Given the description of an element on the screen output the (x, y) to click on. 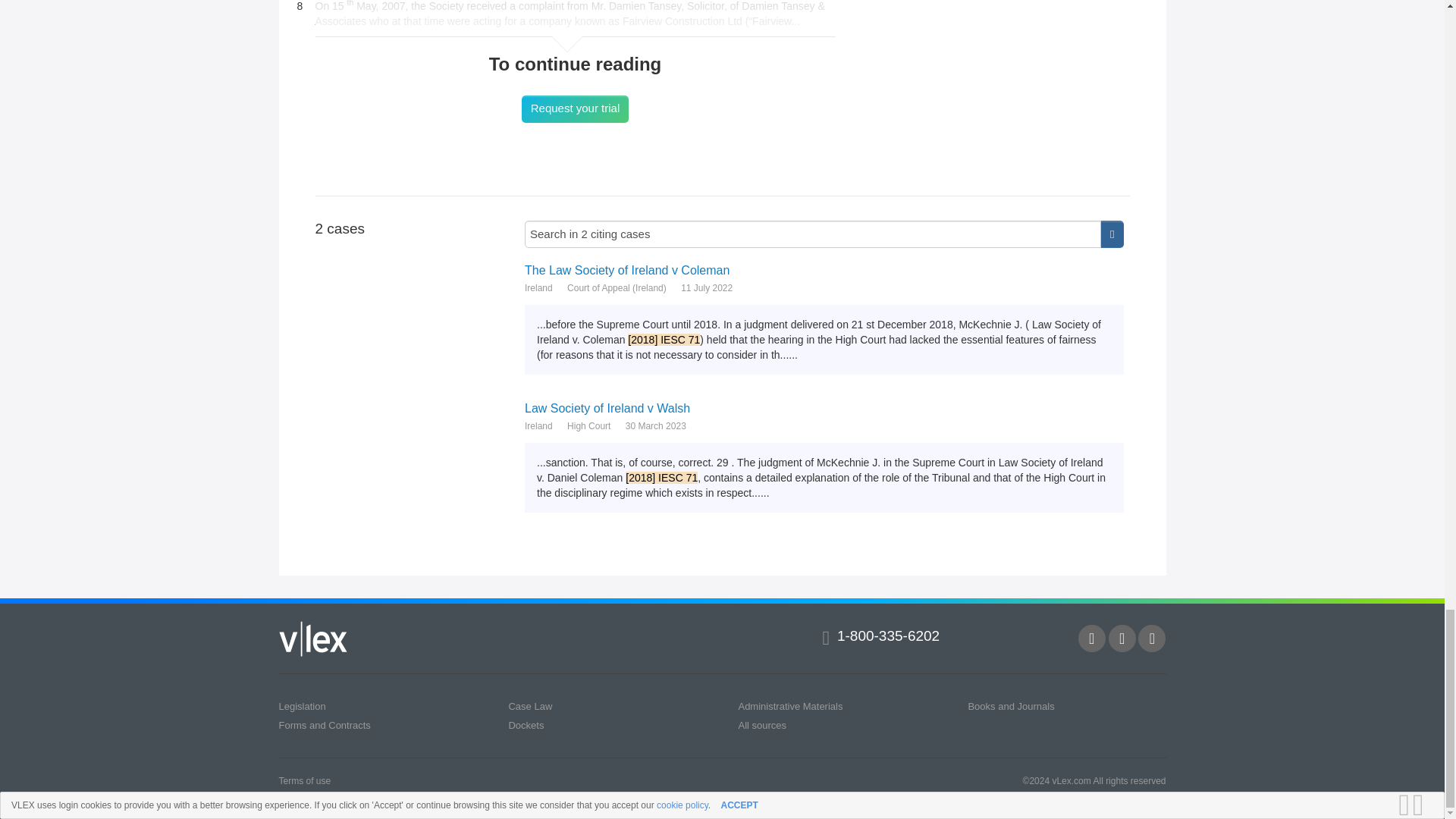
All sources (762, 725)
Forms and Contracts (325, 725)
Law Society of Ireland v Walsh (824, 408)
The Law Society of Ireland v Coleman (824, 269)
Case Law (529, 705)
All sources (762, 725)
Legislation (302, 705)
Law Society of Ireland v Walsh (824, 408)
High Court (588, 425)
30 March 2023 (655, 425)
Dockets (525, 725)
Administrative Materials (790, 705)
Forms and Contracts (325, 725)
Books and Journals (1011, 705)
Terms of use (305, 780)
